Given the description of an element on the screen output the (x, y) to click on. 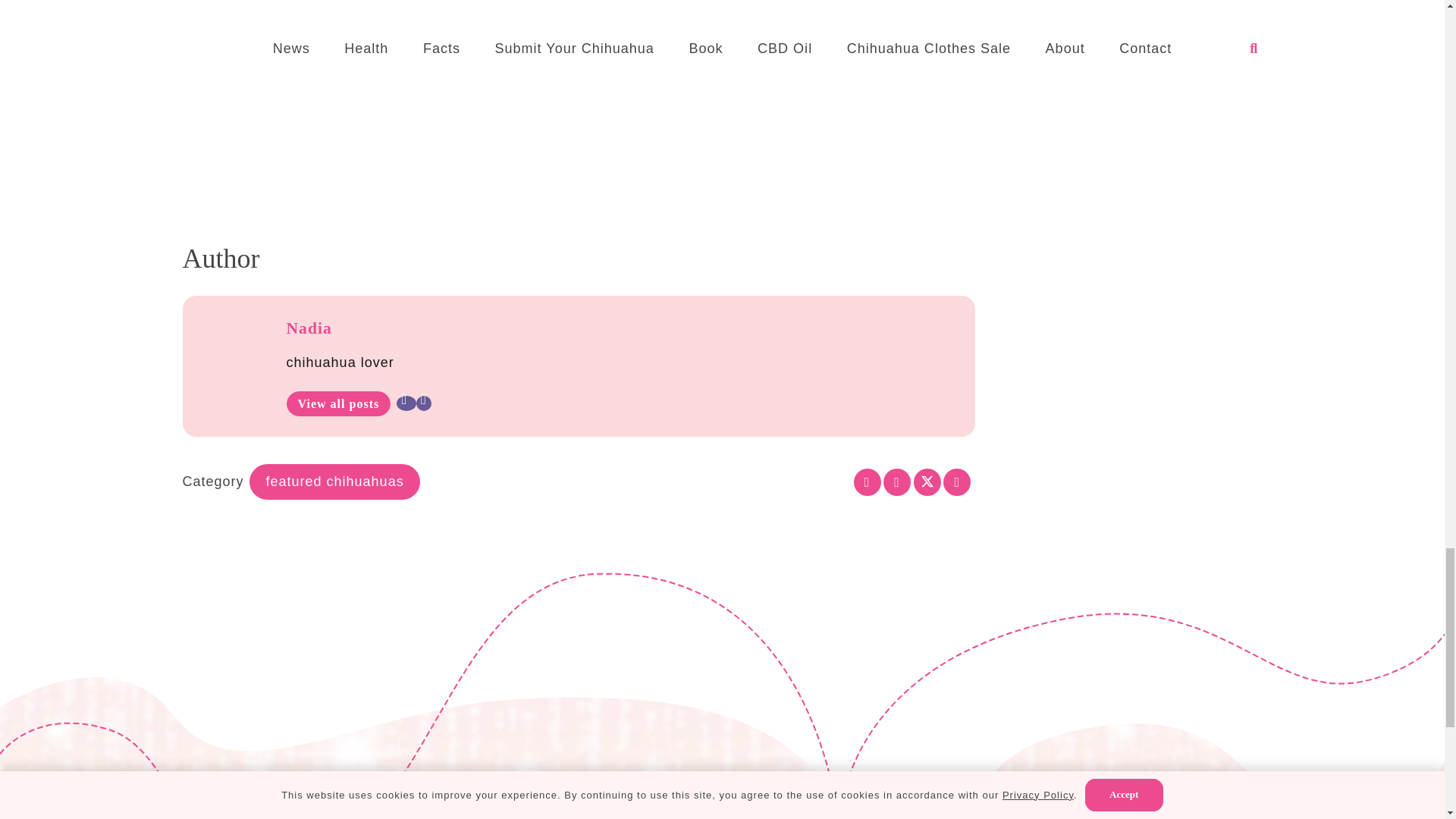
View all posts (338, 403)
View all posts (338, 403)
featured chihuahuas (334, 481)
Nadia (308, 328)
Nadia (308, 328)
